Given the description of an element on the screen output the (x, y) to click on. 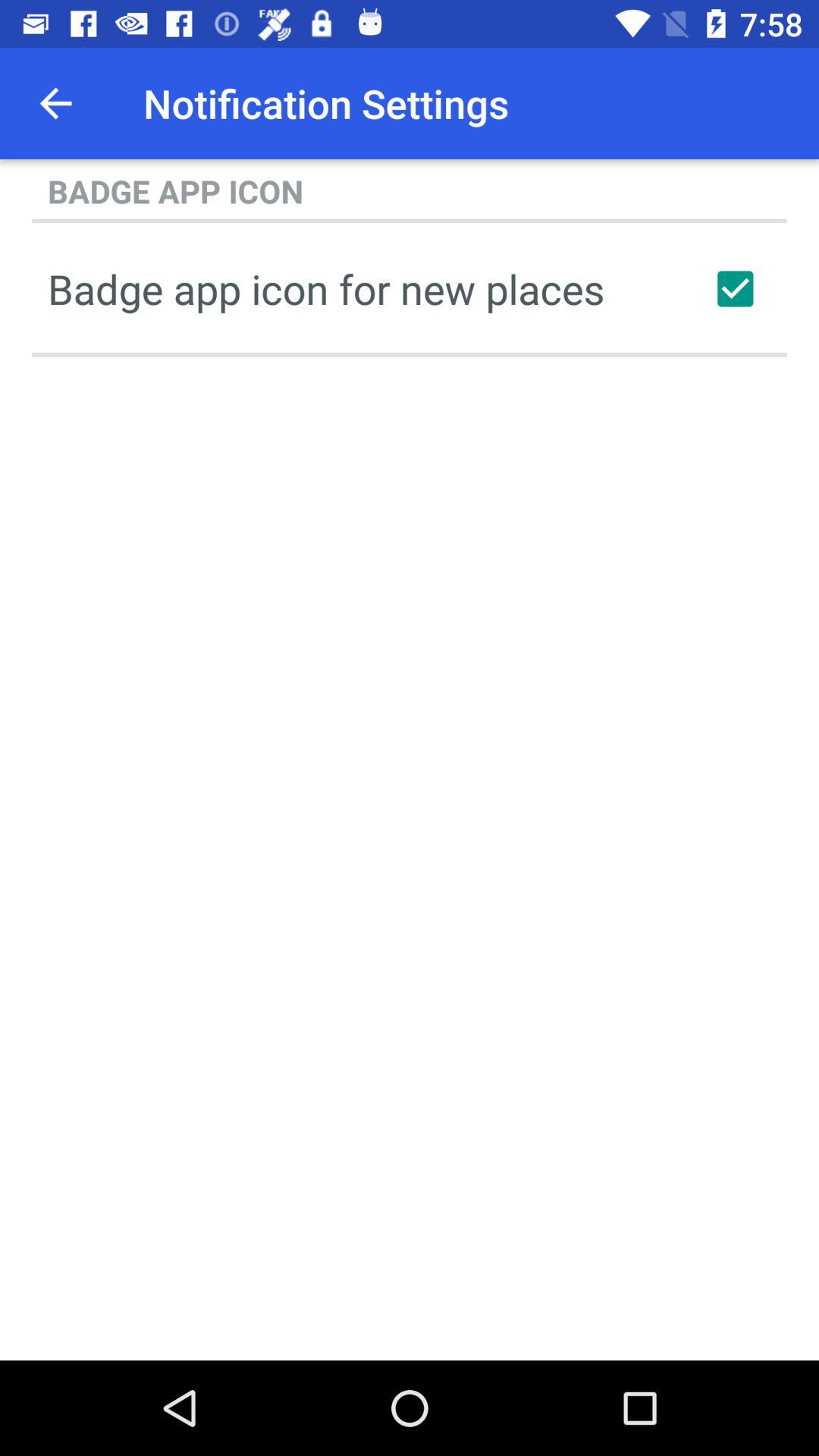
check the box to allow (735, 288)
